Given the description of an element on the screen output the (x, y) to click on. 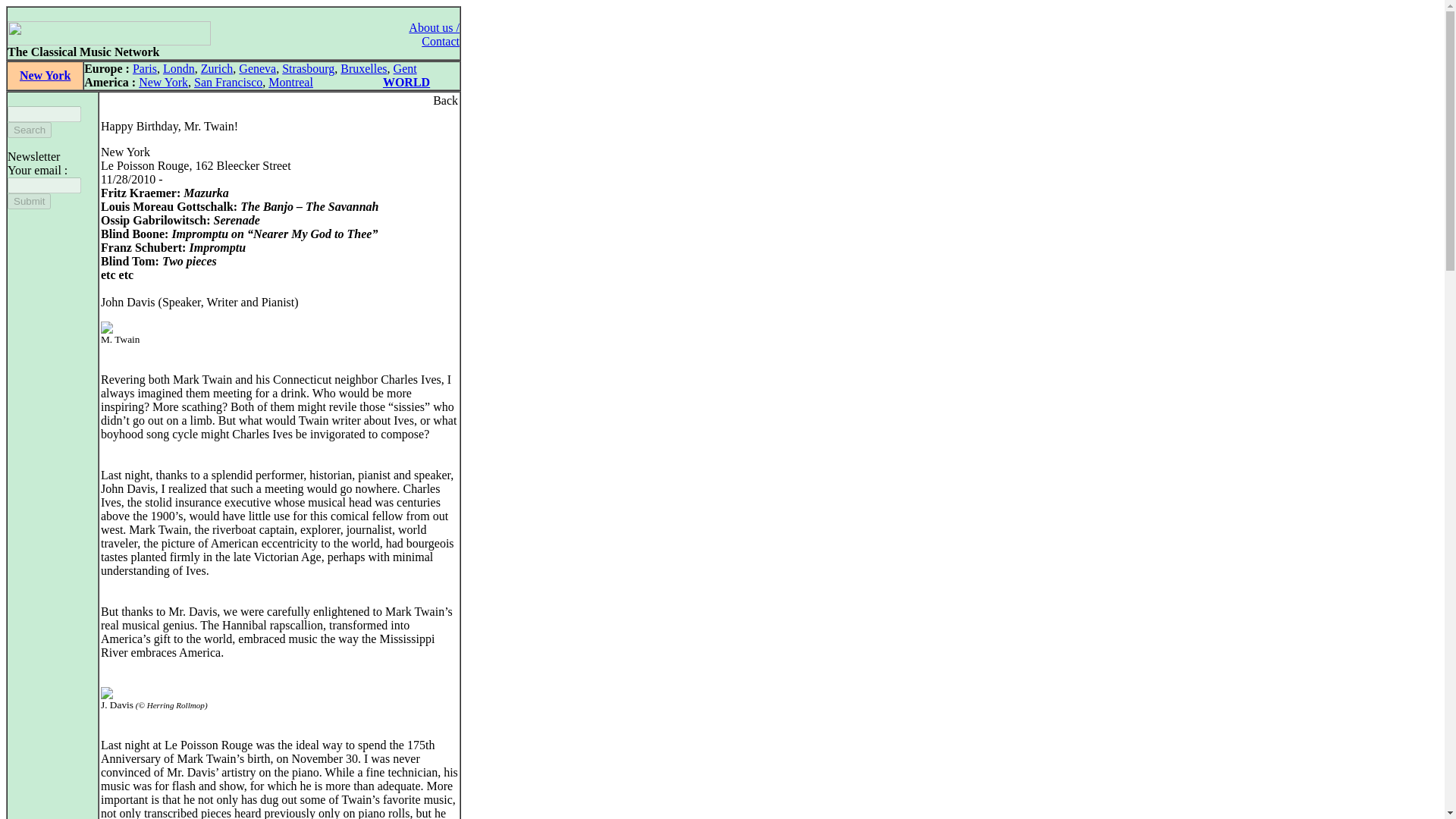
Montreal (290, 82)
Search (28, 130)
Gent (404, 68)
WORLD (405, 82)
Back (445, 100)
San Francisco (227, 82)
Londn (179, 68)
New York (44, 74)
Strasbourg (308, 68)
New York (162, 82)
Bruxelles (363, 68)
Submit (28, 201)
Zurich (216, 68)
Submit (28, 201)
Geneva (257, 68)
